Given the description of an element on the screen output the (x, y) to click on. 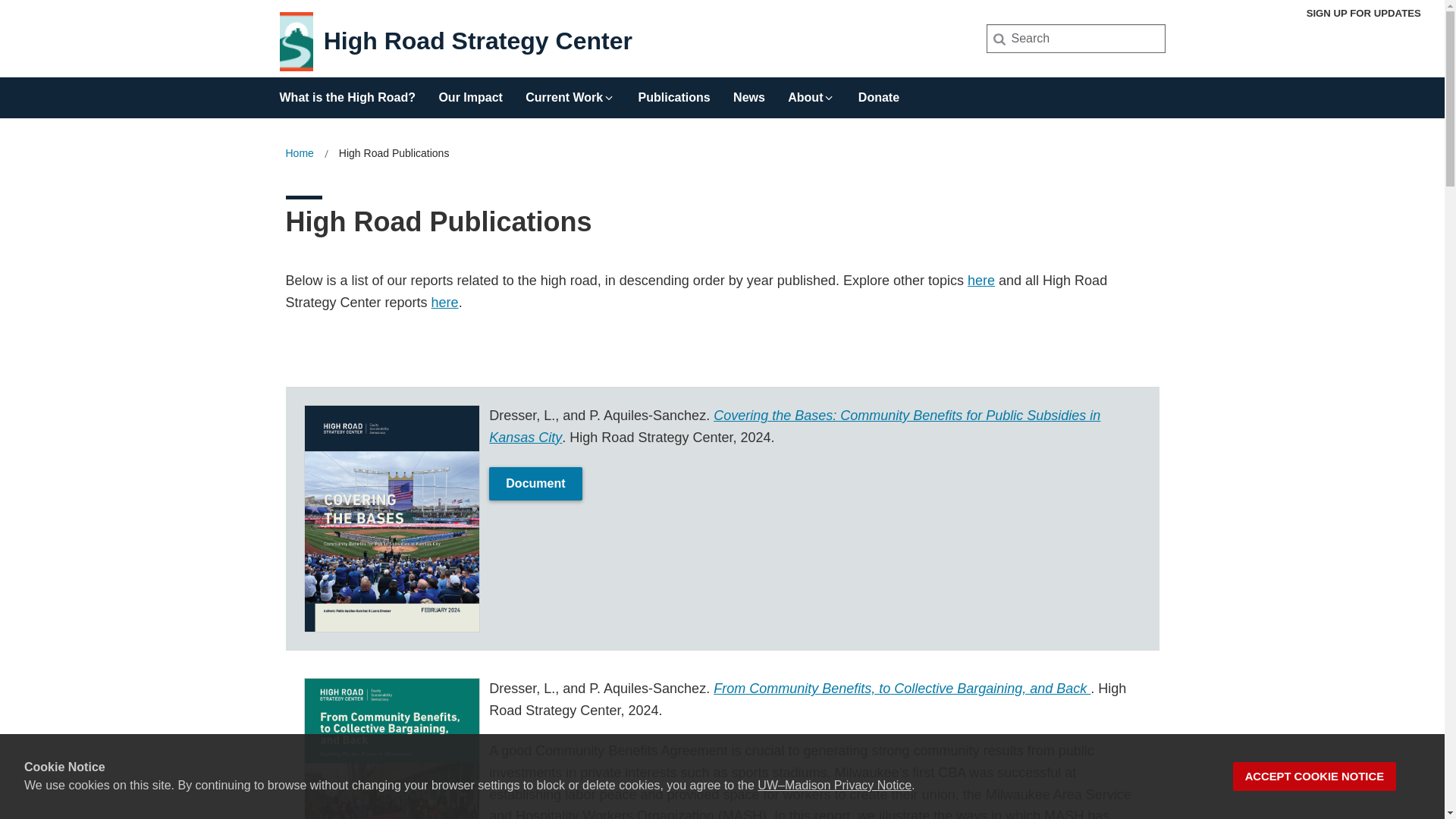
SIGN UP FOR UPDATES (1363, 13)
News (749, 92)
Publications (674, 92)
About Expand (810, 92)
Home (299, 153)
Expand (828, 97)
Current Work Expand (569, 92)
From Community Benefits, to Collective Bargaining, and Back (901, 688)
Home (299, 153)
here (981, 280)
